Given the description of an element on the screen output the (x, y) to click on. 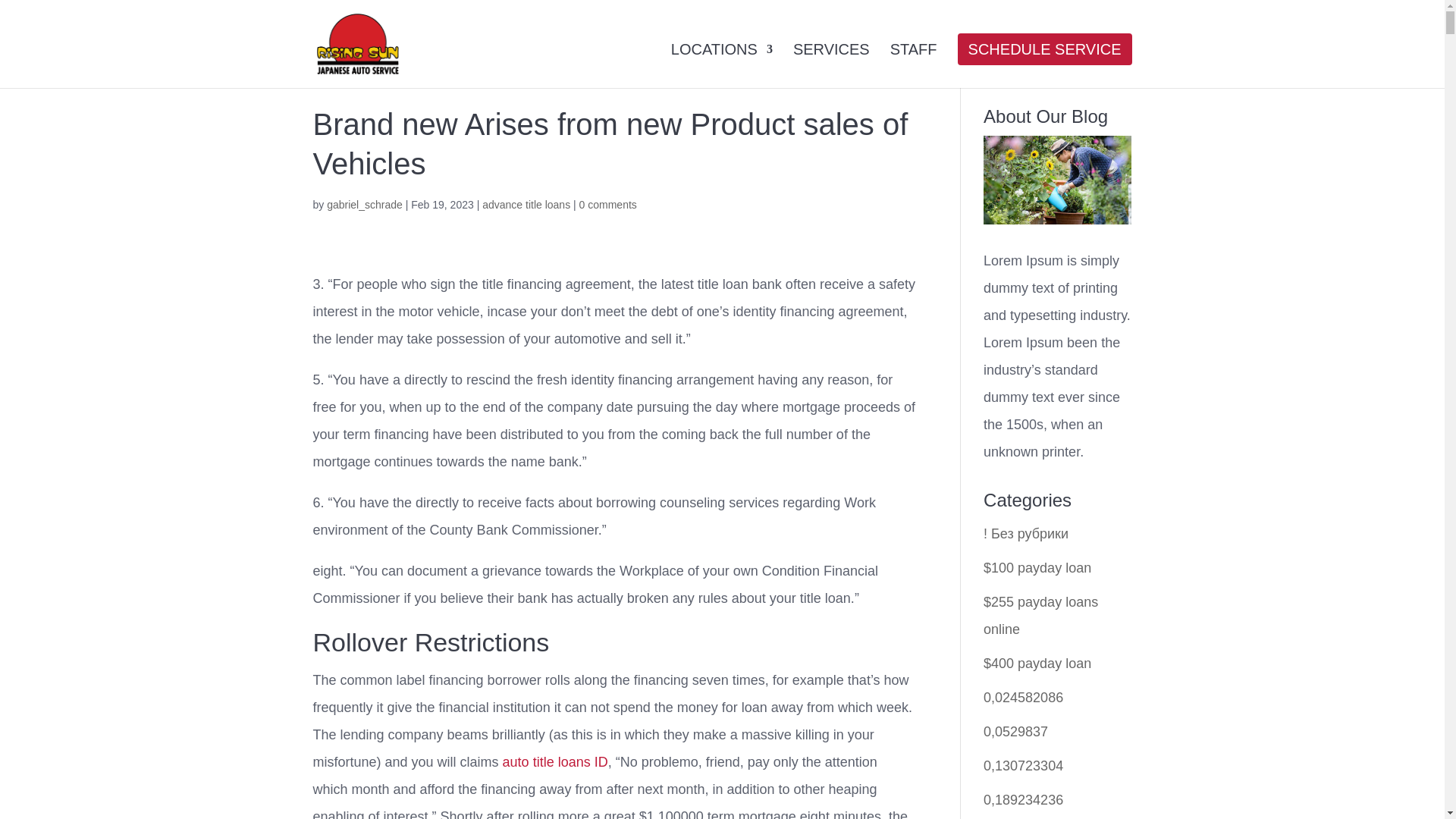
advance title loans (525, 204)
0,0529837 (1016, 731)
0,189234236 (1023, 799)
0,024582086 (1023, 697)
SCHEDULE SERVICE (1044, 64)
0 comments (608, 204)
LOCATIONS (722, 64)
auto title loans ID (555, 761)
STAFF (913, 64)
SERVICES (831, 64)
